Given the description of an element on the screen output the (x, y) to click on. 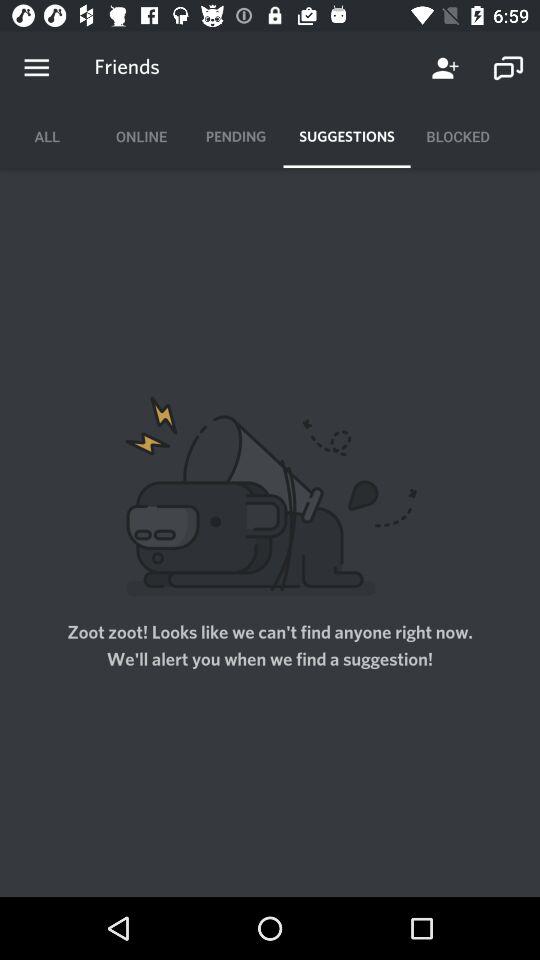
open additional sections (36, 68)
